Given the description of an element on the screen output the (x, y) to click on. 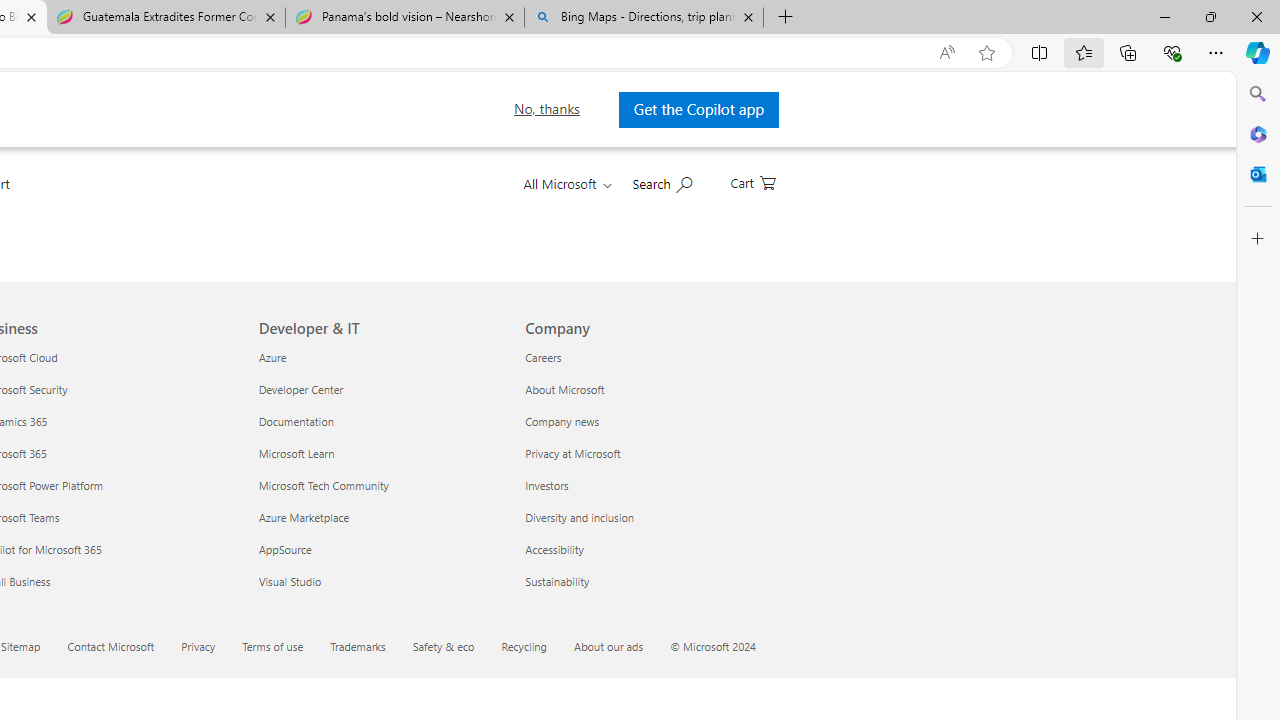
Get the Copilot app  (696, 109)
Search Microsoft.com (662, 182)
